Given the description of an element on the screen output the (x, y) to click on. 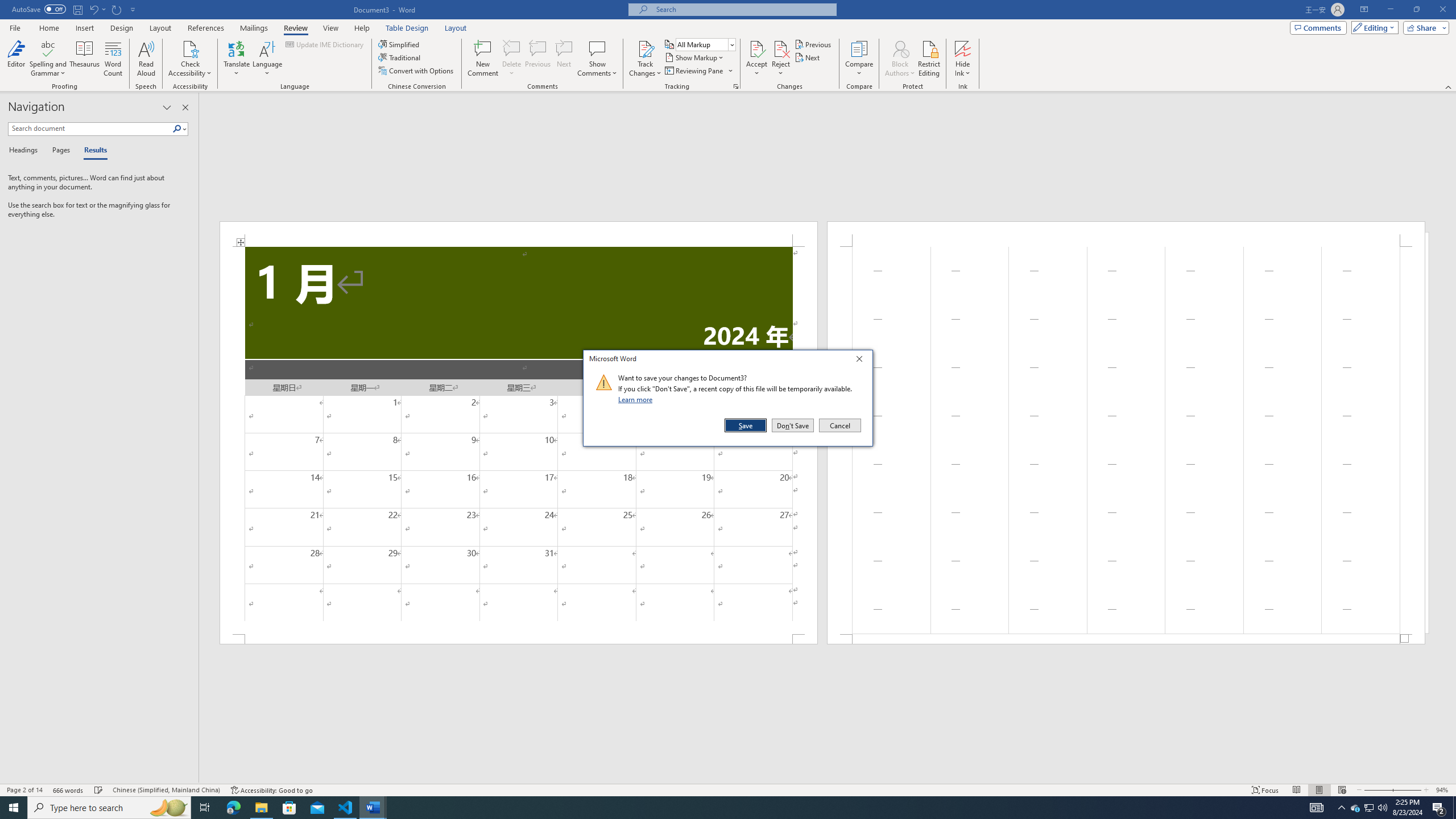
Pages (1355, 807)
Check Accessibility (59, 150)
Accept (189, 58)
Language (756, 58)
Zoom In (267, 58)
Word Count (1407, 790)
Page Number Page 2 of 14 (113, 58)
Track Changes (24, 790)
Footer -Section 1- (644, 58)
Accept and Move to Next (1126, 638)
Web Layout (756, 48)
Read Mode (1342, 790)
